Given the description of an element on the screen output the (x, y) to click on. 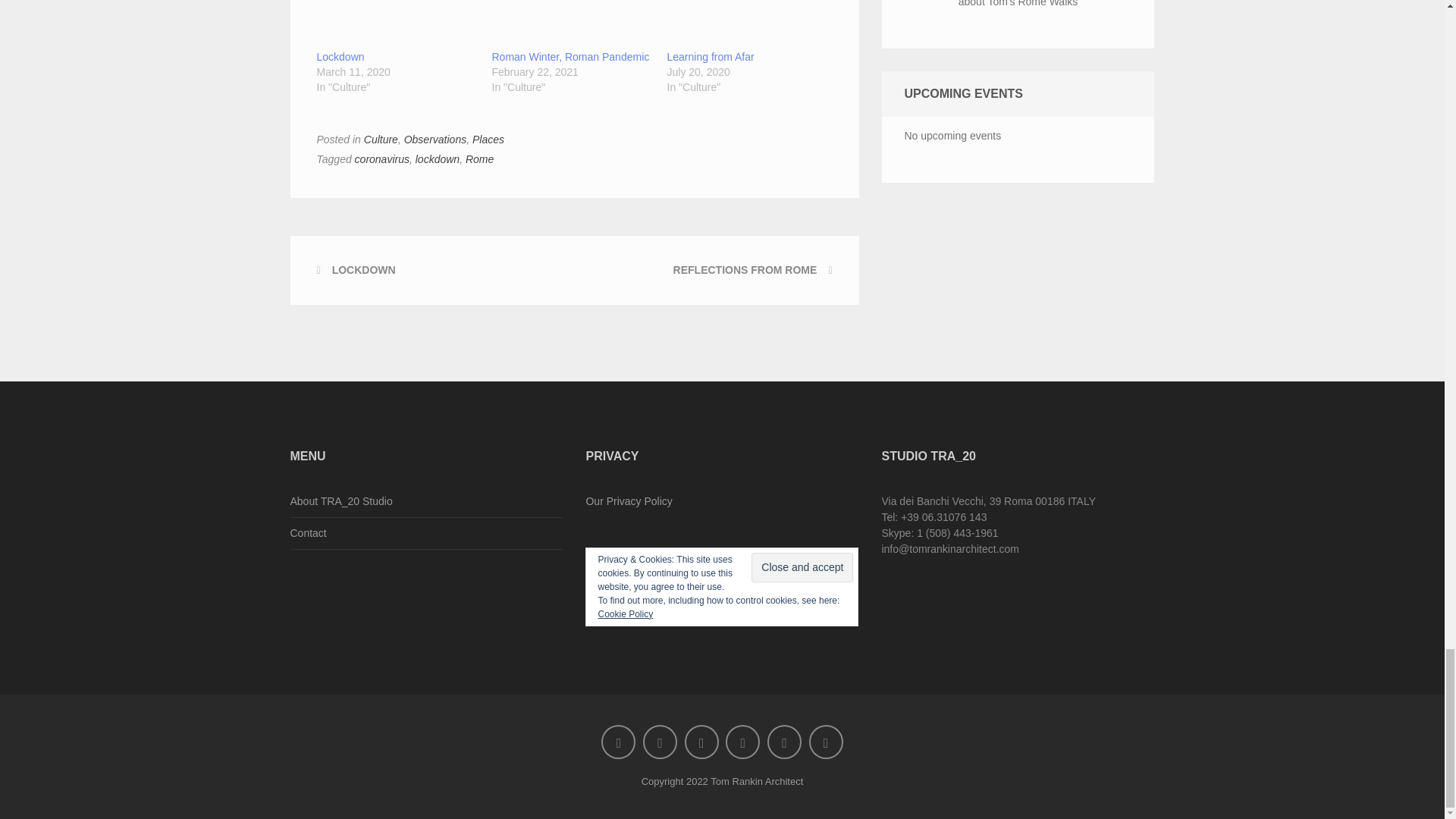
Observations (434, 139)
Roman Winter, Roman Pandemic (571, 24)
Roman Winter, Roman Pandemic (570, 56)
Learning from Afar (746, 24)
Lockdown (341, 56)
REFLECTIONS FROM ROME (744, 269)
coronavirus (382, 159)
Learning from Afar (710, 56)
Culture (380, 139)
LOCKDOWN (363, 269)
Close and accept (802, 567)
Roman Winter, Roman Pandemic (570, 56)
lockdown (437, 159)
Lockdown (341, 56)
Rome (479, 159)
